Given the description of an element on the screen output the (x, y) to click on. 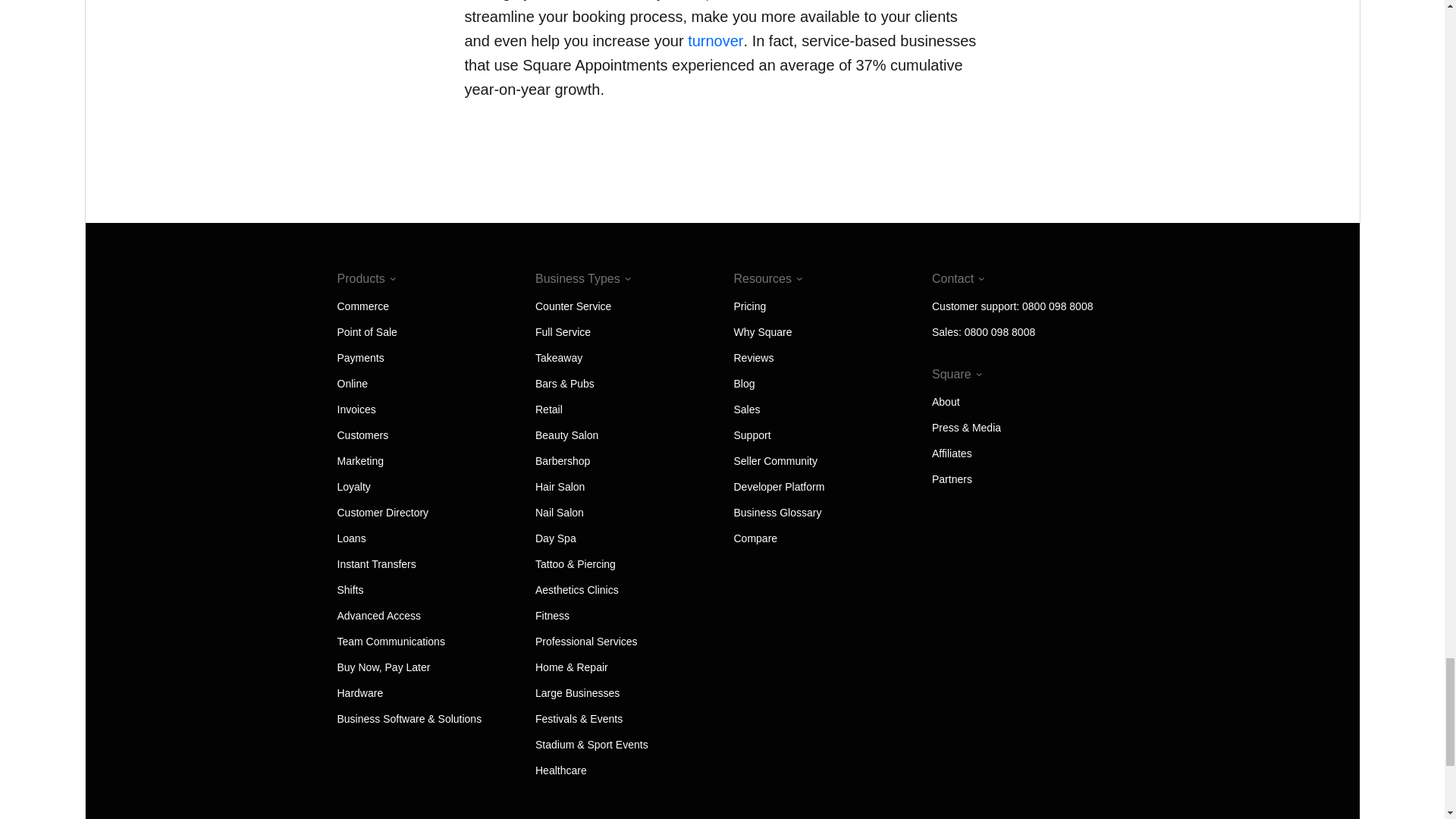
Customer Directory (382, 512)
Invoices (355, 409)
Advanced Access (378, 615)
Point of Sale (366, 331)
Team Communications (390, 641)
Shifts (349, 589)
turnover (714, 40)
Hardware (359, 693)
Commerce (362, 306)
Payments (360, 357)
